Given the description of an element on the screen output the (x, y) to click on. 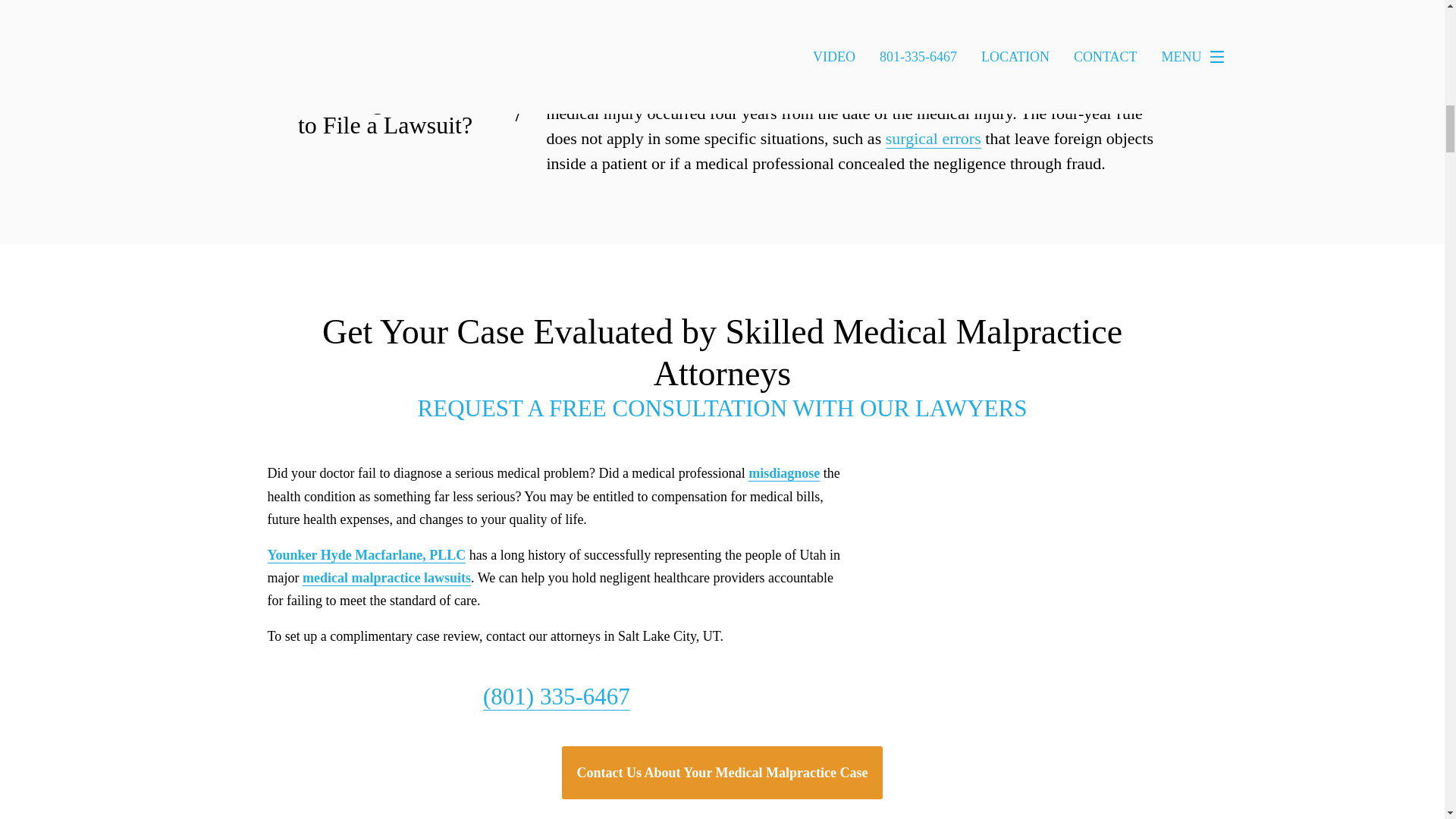
Contact Us About Your Medical Malpractice Case (722, 772)
surgical errors (933, 138)
misdiagnose (783, 473)
medical malpractice lawsuits (386, 578)
Younker Hyde Macfarlane, PLLC (365, 555)
medical malpractice claim (733, 88)
